Given the description of an element on the screen output the (x, y) to click on. 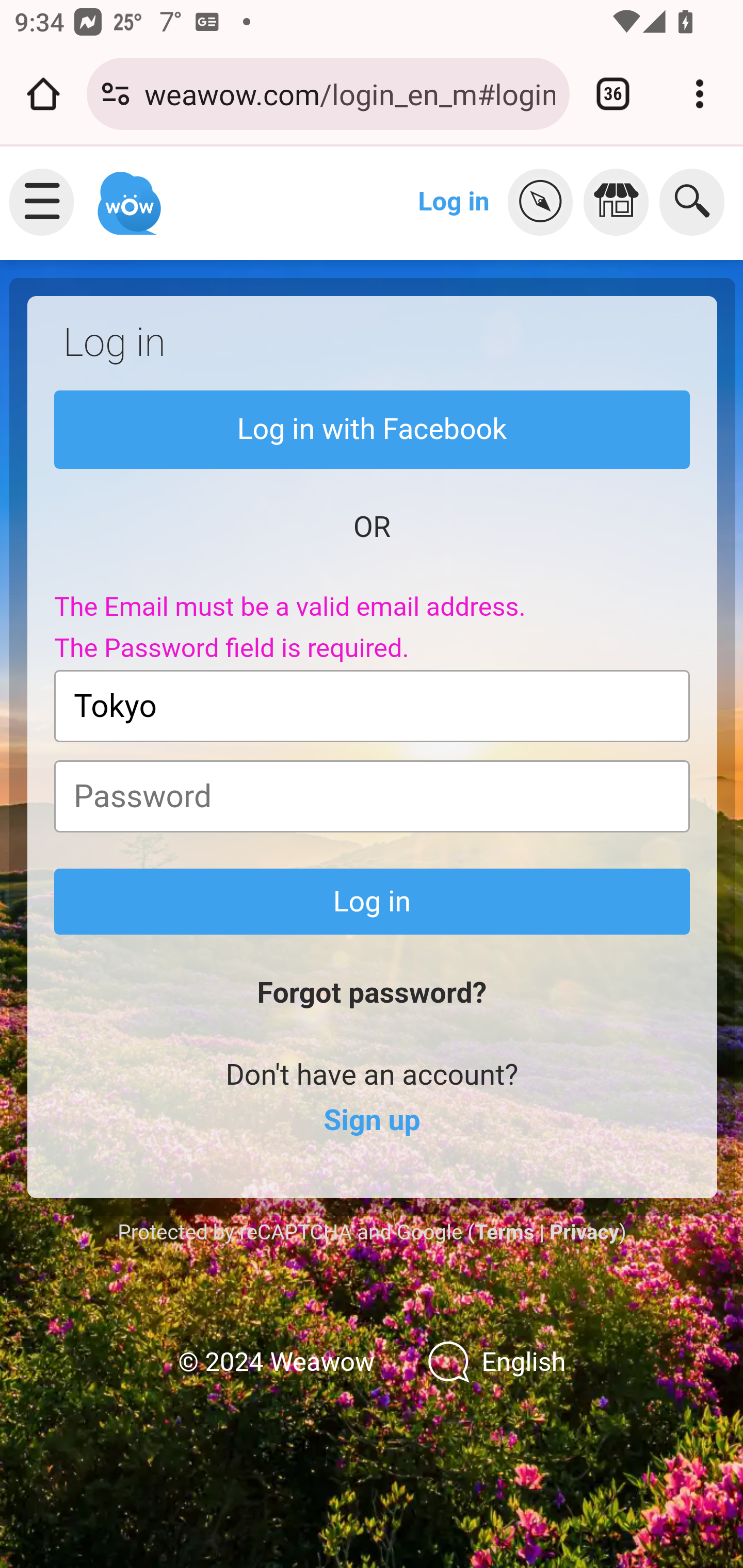
Open the home page (43, 93)
Connection is secure (115, 93)
Switch or close tabs (612, 93)
Customize and control Google Chrome (699, 93)
weawow.com/login_en_m#login (349, 92)
Weawow (127, 194)
 (545, 201)
 (621, 201)
Log in (453, 201)
Tokyo (372, 706)
Log in (372, 902)
Forgot password? (371, 993)
Sign up (371, 1120)
Terms (503, 1231)
Privacy (583, 1231)
© 2024 Weawow (275, 1362)
